Given the description of an element on the screen output the (x, y) to click on. 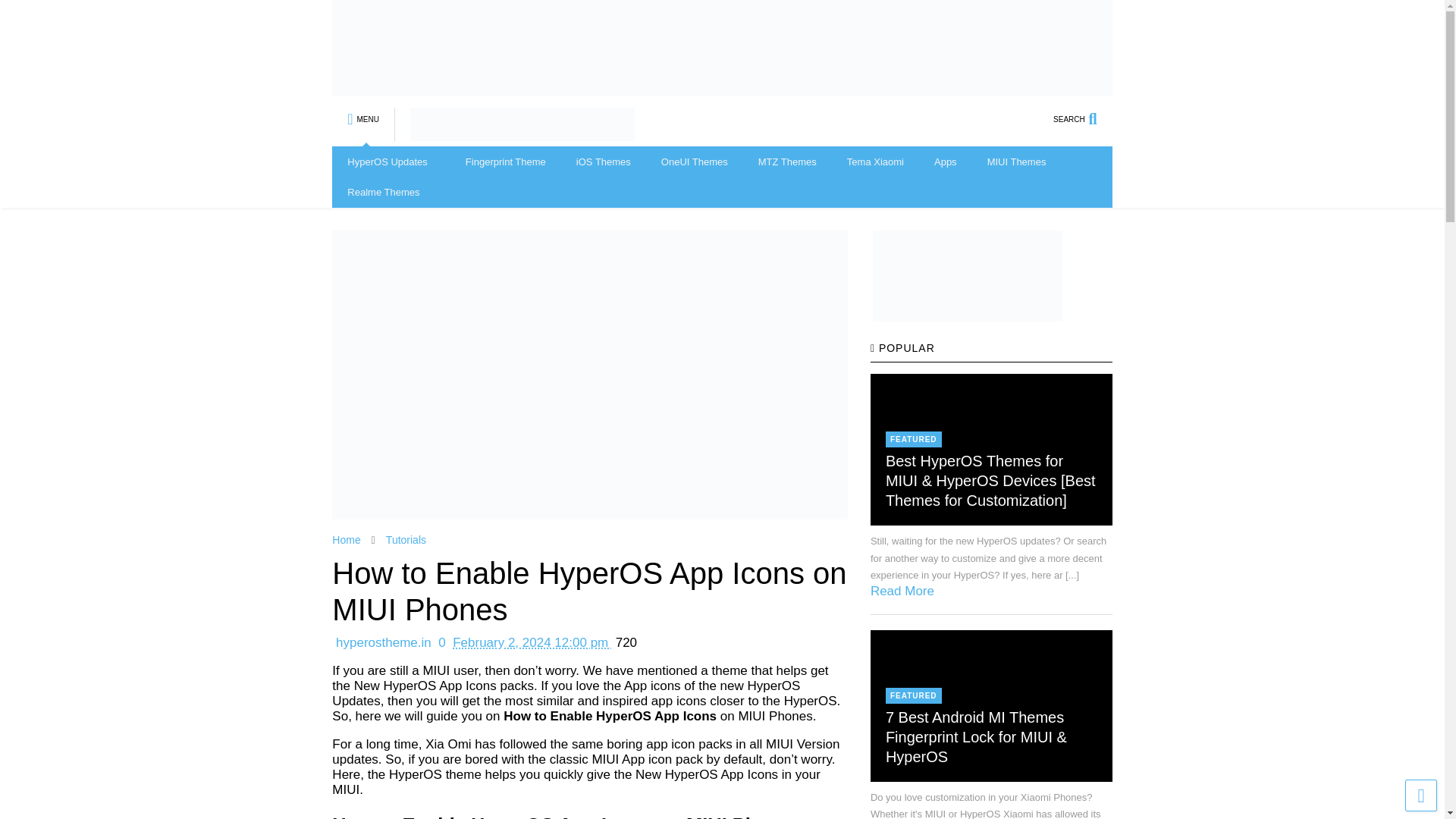
Realme Themes (382, 192)
hyperostheme.in (382, 642)
MIUI Themes (1016, 162)
MENU (362, 111)
hyperostheme.in (382, 642)
SEARCH (1082, 111)
February 2, 2024 12:00 pm (529, 642)
Tutorials (405, 539)
iOS Themes (603, 162)
Home (345, 539)
HyperOS Updates (390, 162)
Apps (945, 162)
OneUI Themes (694, 162)
MTZ Themes (786, 162)
